Given the description of an element on the screen output the (x, y) to click on. 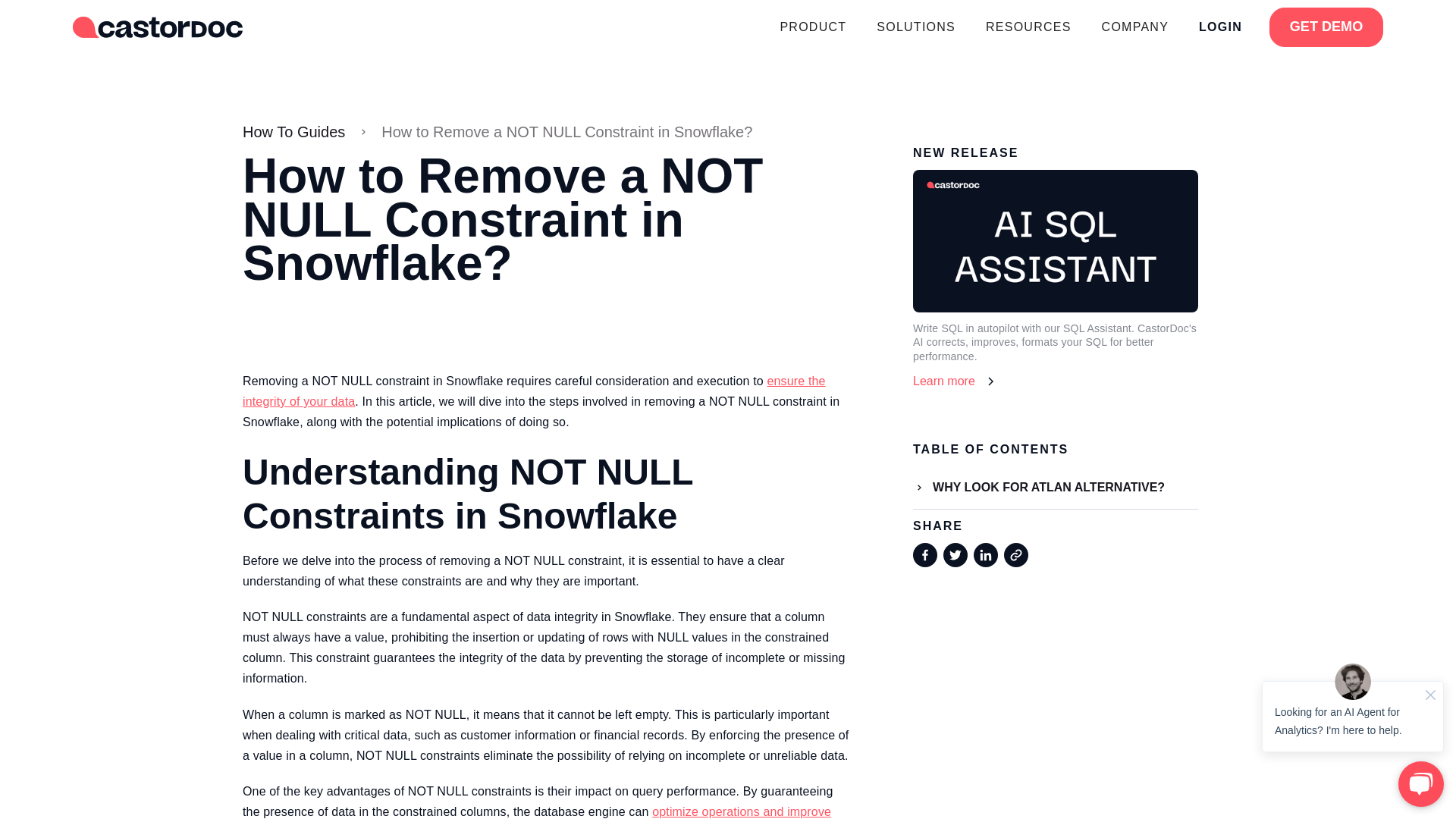
ensure the integrity of your data (534, 390)
WHY LOOK FOR ATLAN ALTERNATIVE? (1055, 487)
LOGIN (1220, 27)
optimize operations and improve overall query execution time (537, 812)
GET DEMO (1326, 27)
Learn more (1055, 381)
